Given the description of an element on the screen output the (x, y) to click on. 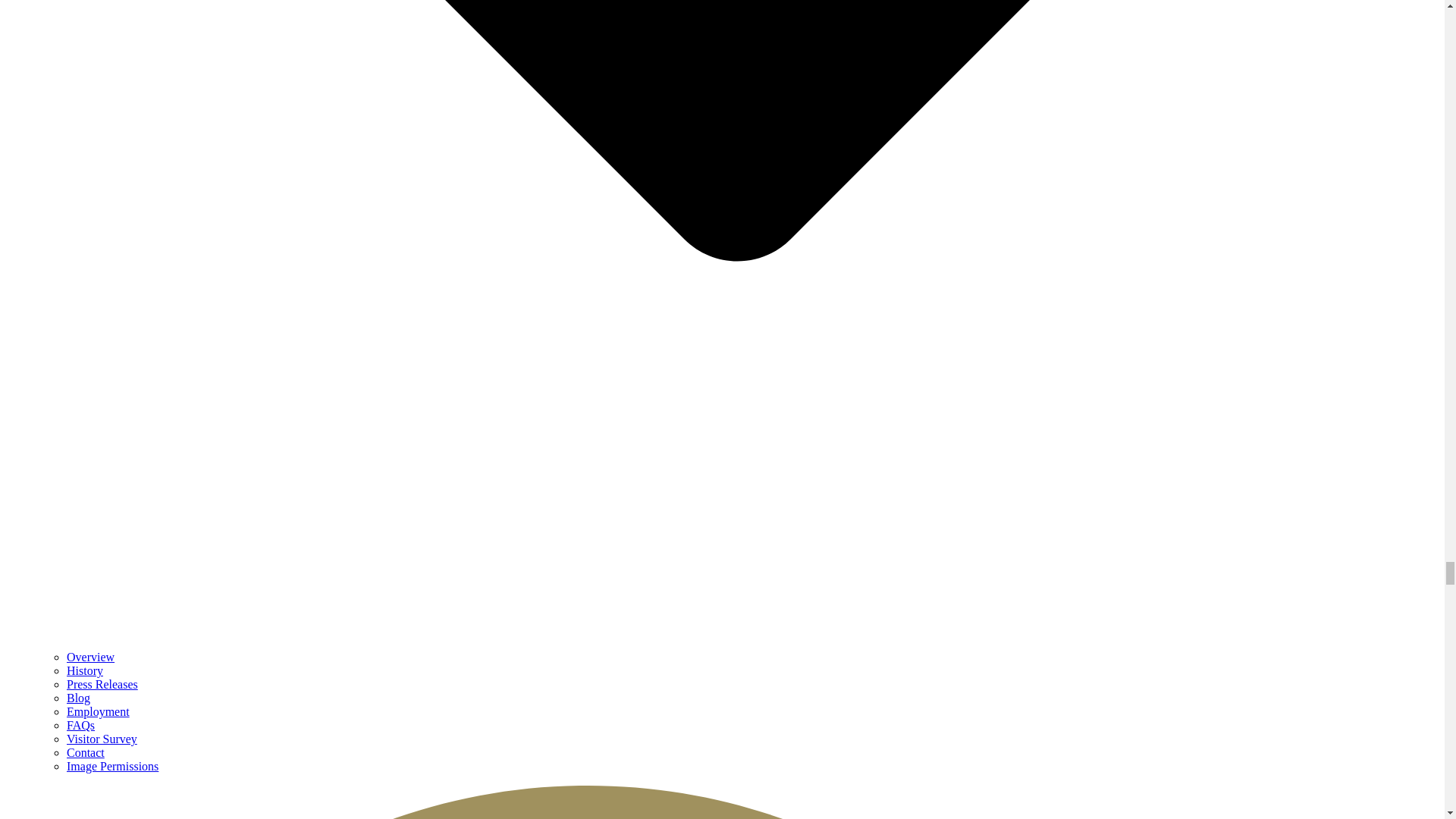
SFO Museum Visitor Survey (101, 738)
